Given the description of an element on the screen output the (x, y) to click on. 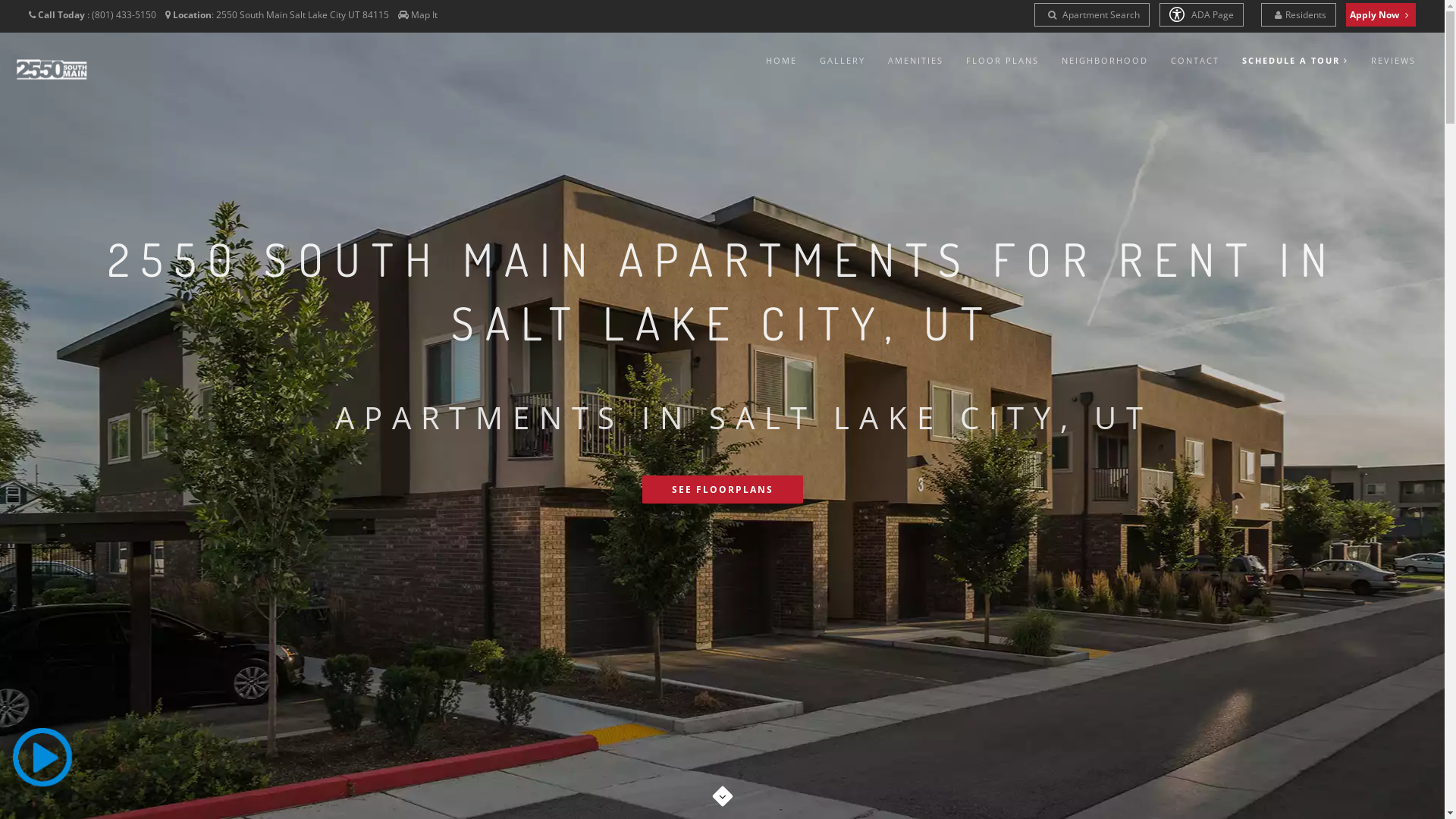
ADA Page Element type: text (1201, 14)
Apply Now Element type: text (1380, 14)
2550 South Main in Salt Lake City, UT Element type: hover (52, 68)
SEE FLOORPLANS Element type: text (721, 489)
2550 South Main Salt Lake City UT 84115 Element type: text (303, 14)
SCHEDULE A TOUR Element type: text (1295, 59)
CONTACT Element type: text (1194, 59)
NEIGHBORHOOD Element type: text (1104, 59)
HOME Element type: text (781, 59)
Residents Element type: text (1298, 14)
FLOOR PLANS Element type: text (1002, 59)
REVIEWS Element type: text (1393, 59)
AMENITIES Element type: text (915, 59)
Apartment Search Element type: text (1091, 14)
GALLERY Element type: text (842, 59)
Map It Element type: text (424, 14)
